Given the description of an element on the screen output the (x, y) to click on. 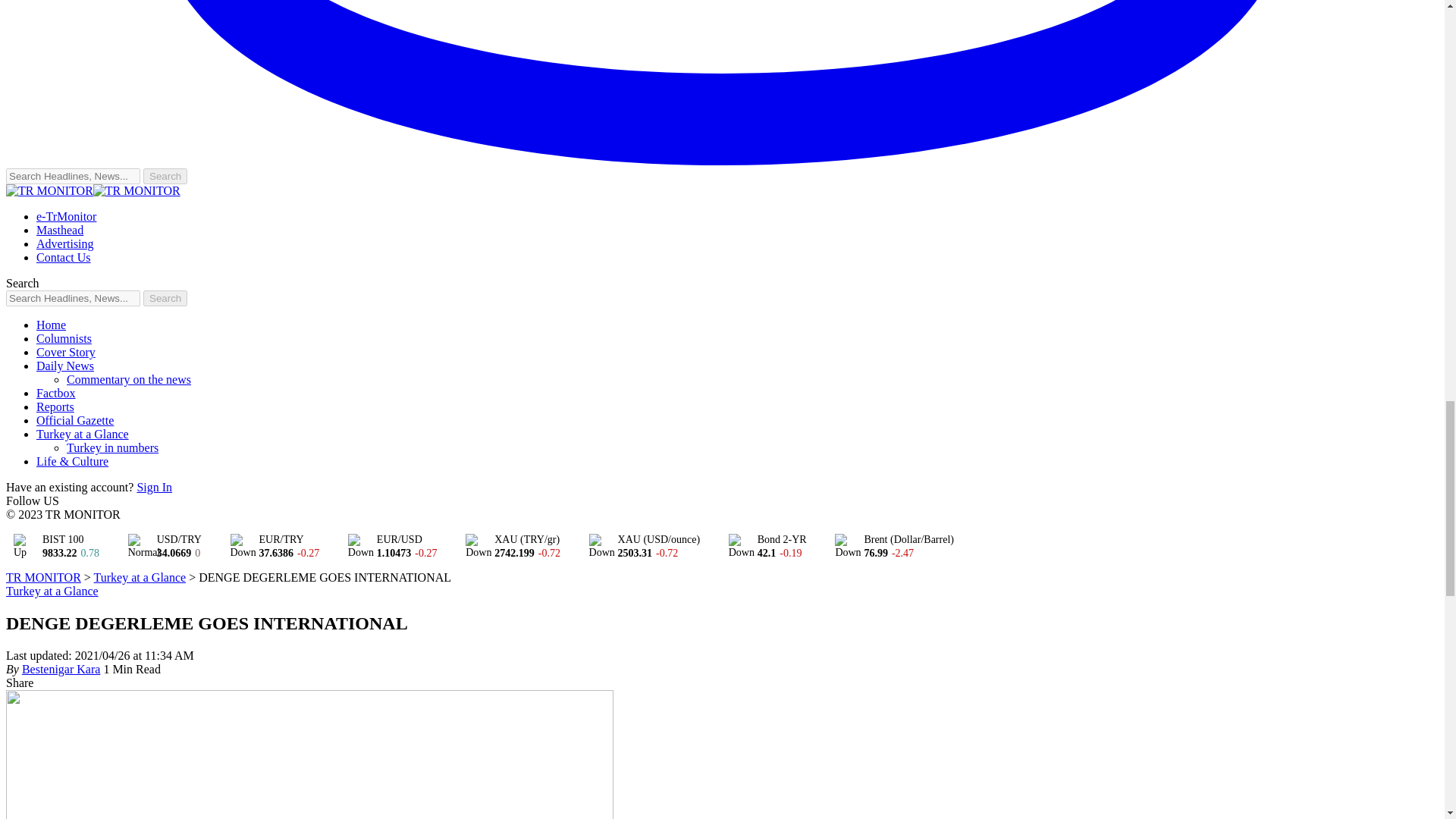
Masthead (59, 229)
Go to the Turkey at a Glance Category archives. (140, 576)
TR MONITOR (92, 190)
Go to TR MONITOR. (43, 576)
Search (164, 176)
Search (164, 176)
e-TrMonitor (66, 215)
Search (164, 298)
